Given the description of an element on the screen output the (x, y) to click on. 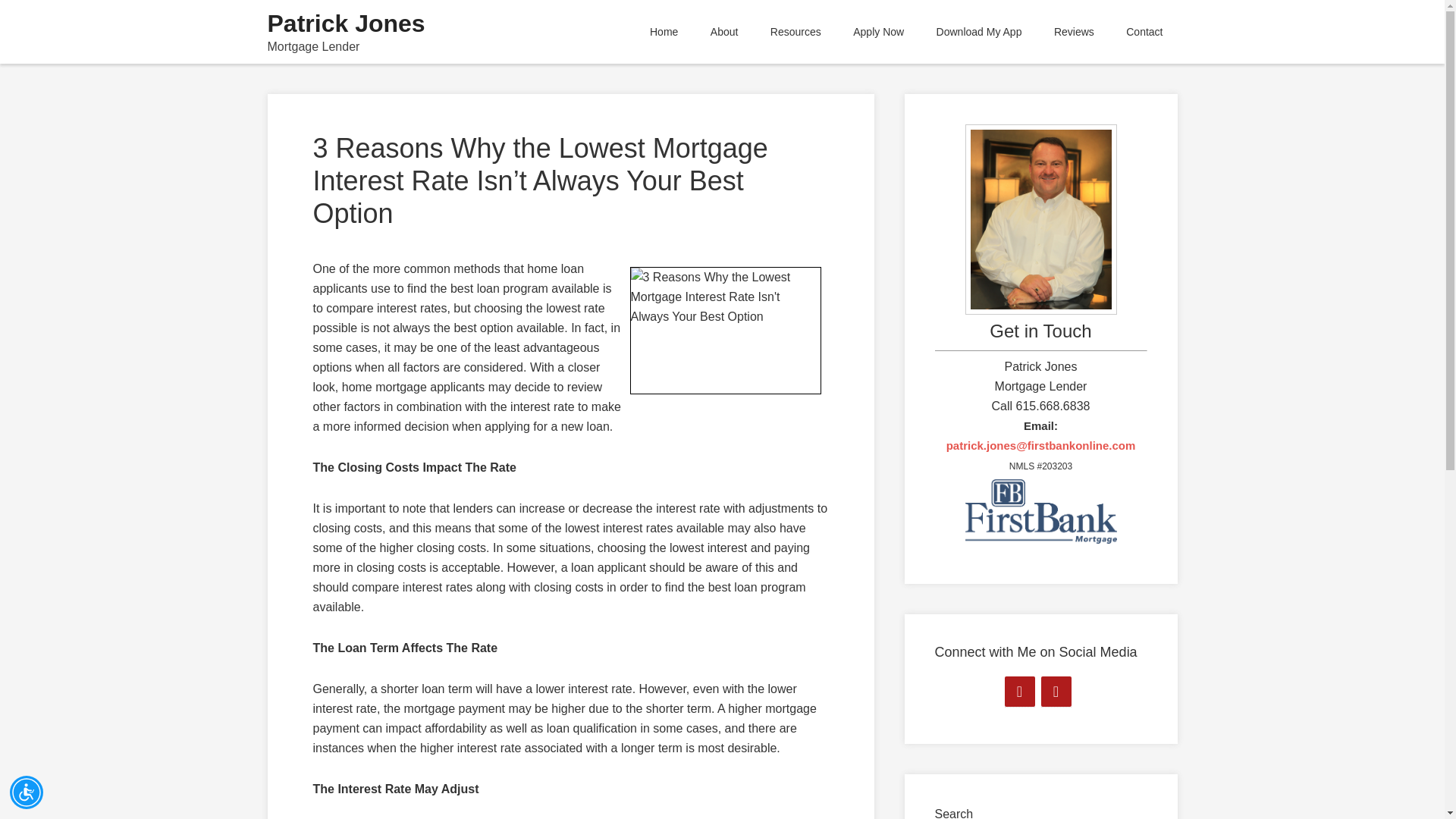
Reviews (1073, 31)
About (723, 31)
Resources (795, 31)
Patrick Jones (345, 22)
Contact (1144, 31)
Home (663, 31)
Download My App (978, 31)
Apply Now (878, 31)
Accessibility Menu (26, 792)
